Given the description of an element on the screen output the (x, y) to click on. 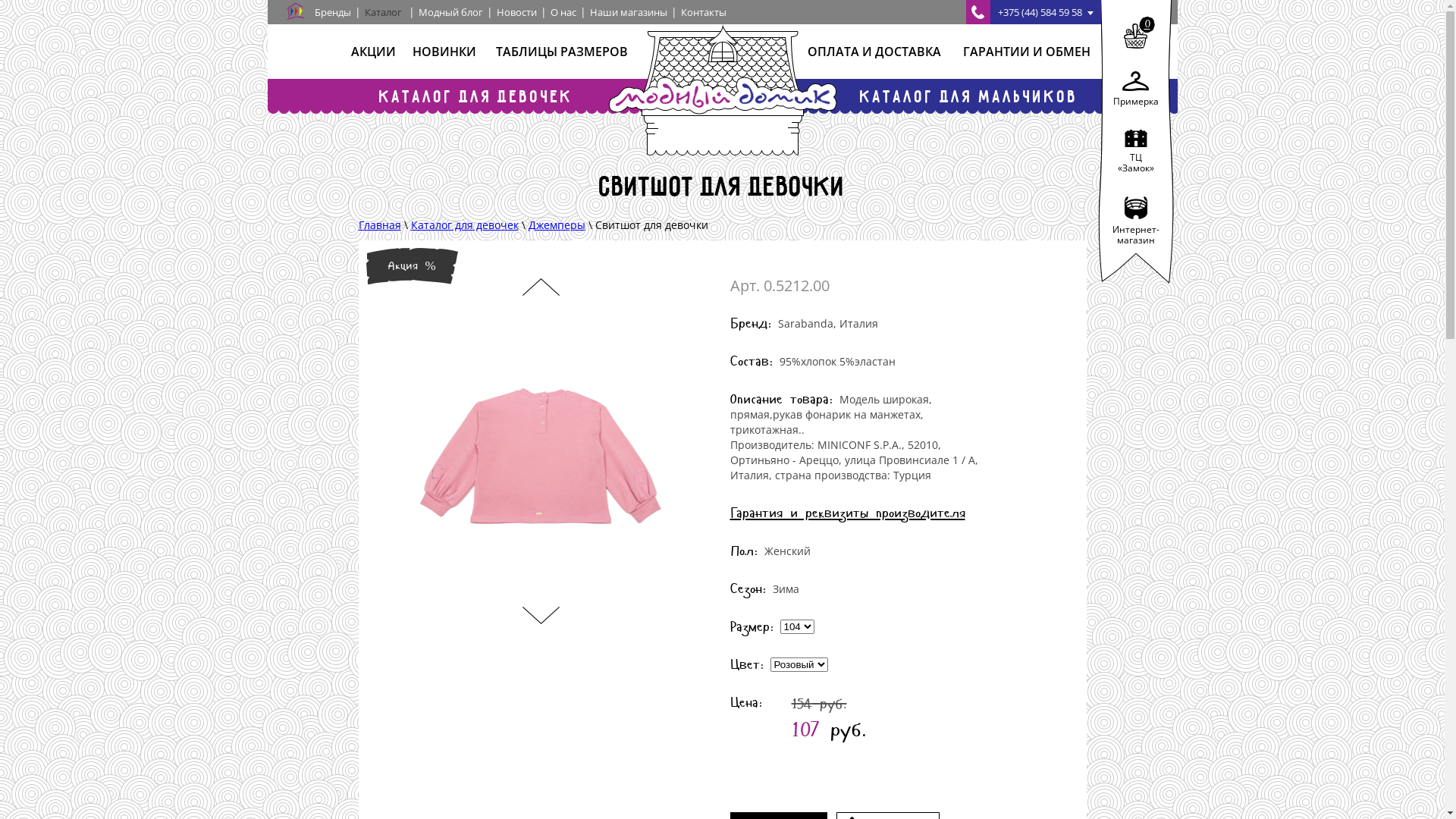
+375 (44) 584 59 58 Element type: text (1033, 12)
